Given the description of an element on the screen output the (x, y) to click on. 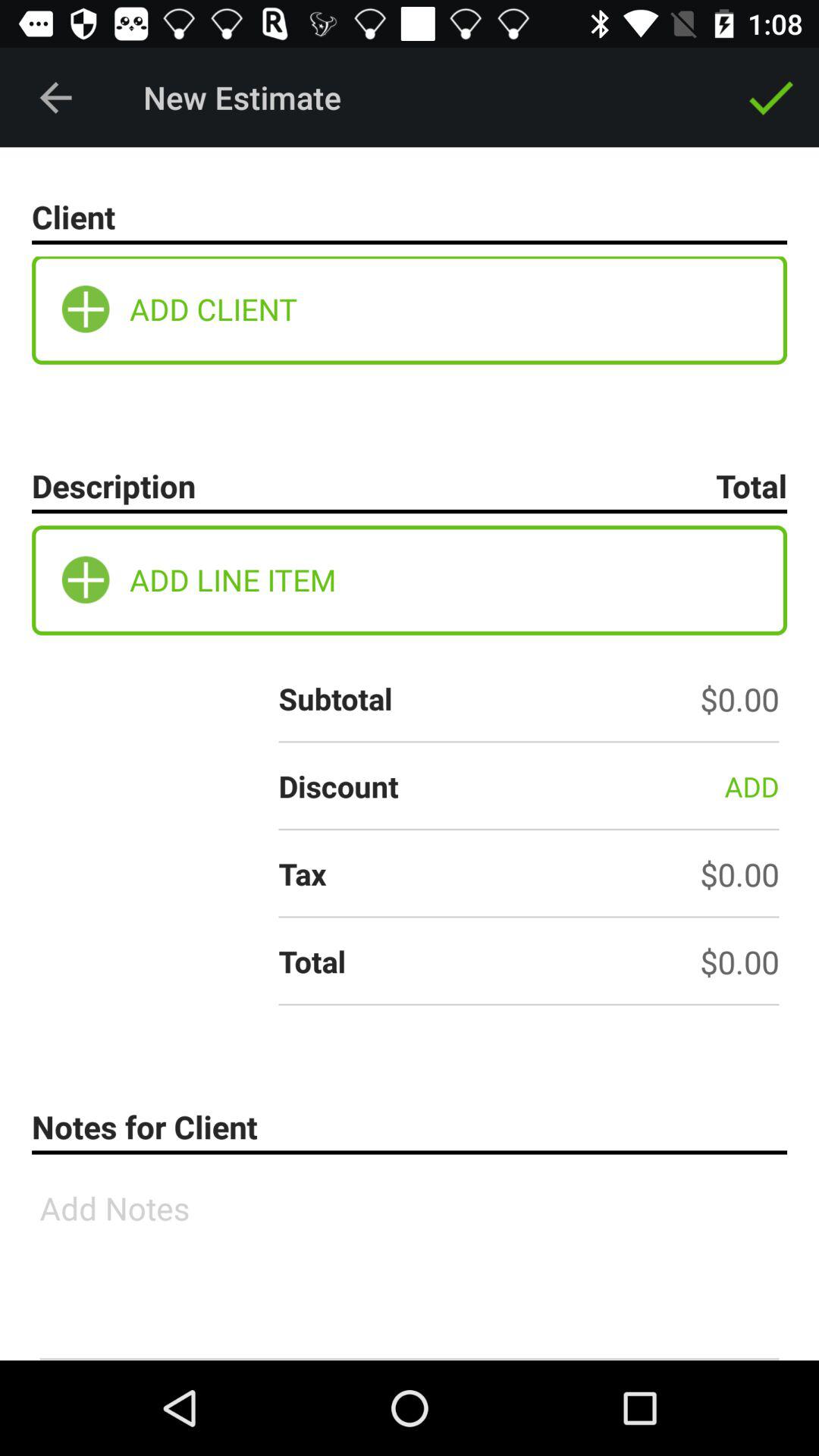
text box (409, 1263)
